Given the description of an element on the screen output the (x, y) to click on. 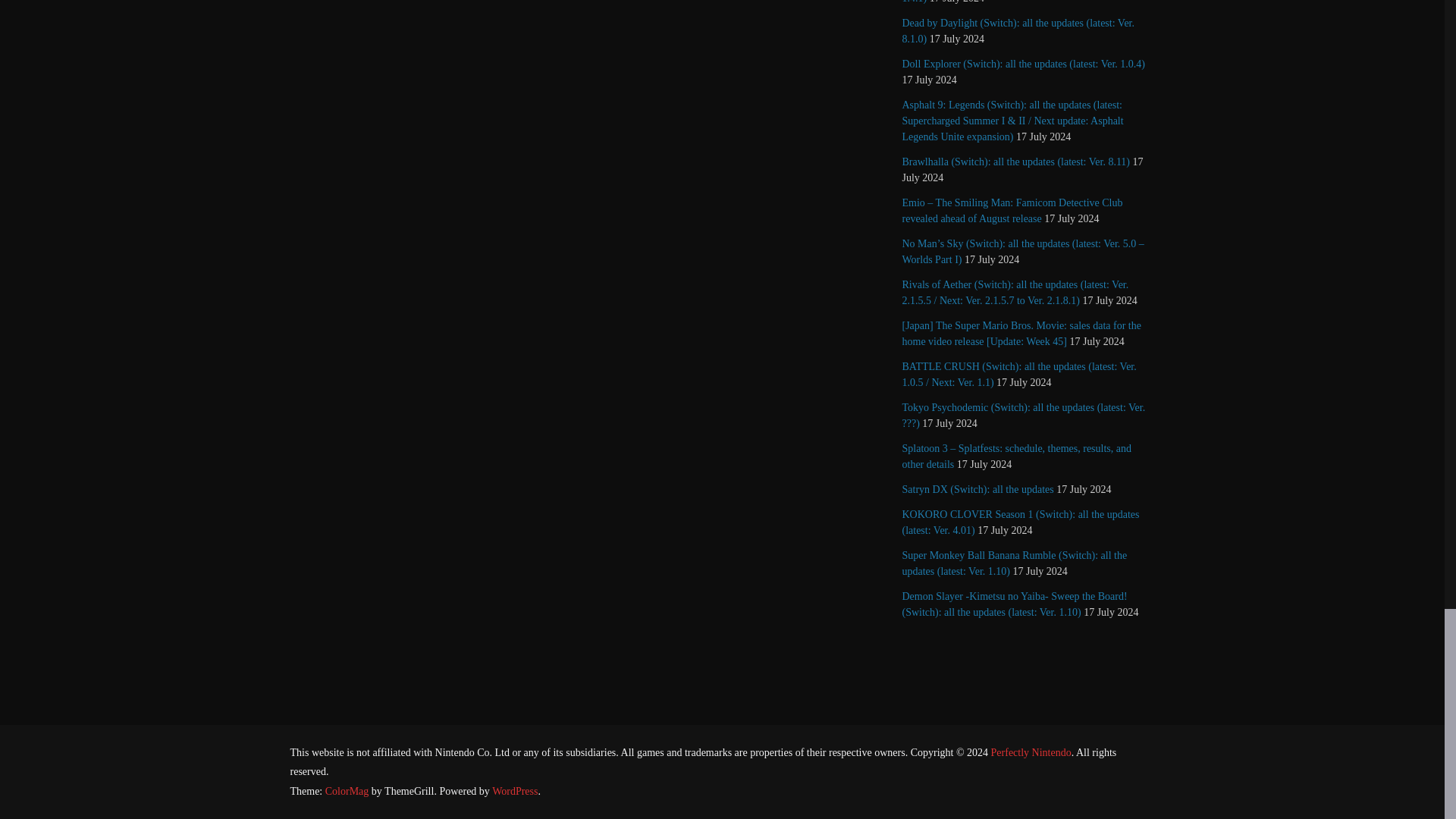
WordPress (514, 790)
Perfectly Nintendo (1031, 752)
ColorMag (346, 790)
